Given the description of an element on the screen output the (x, y) to click on. 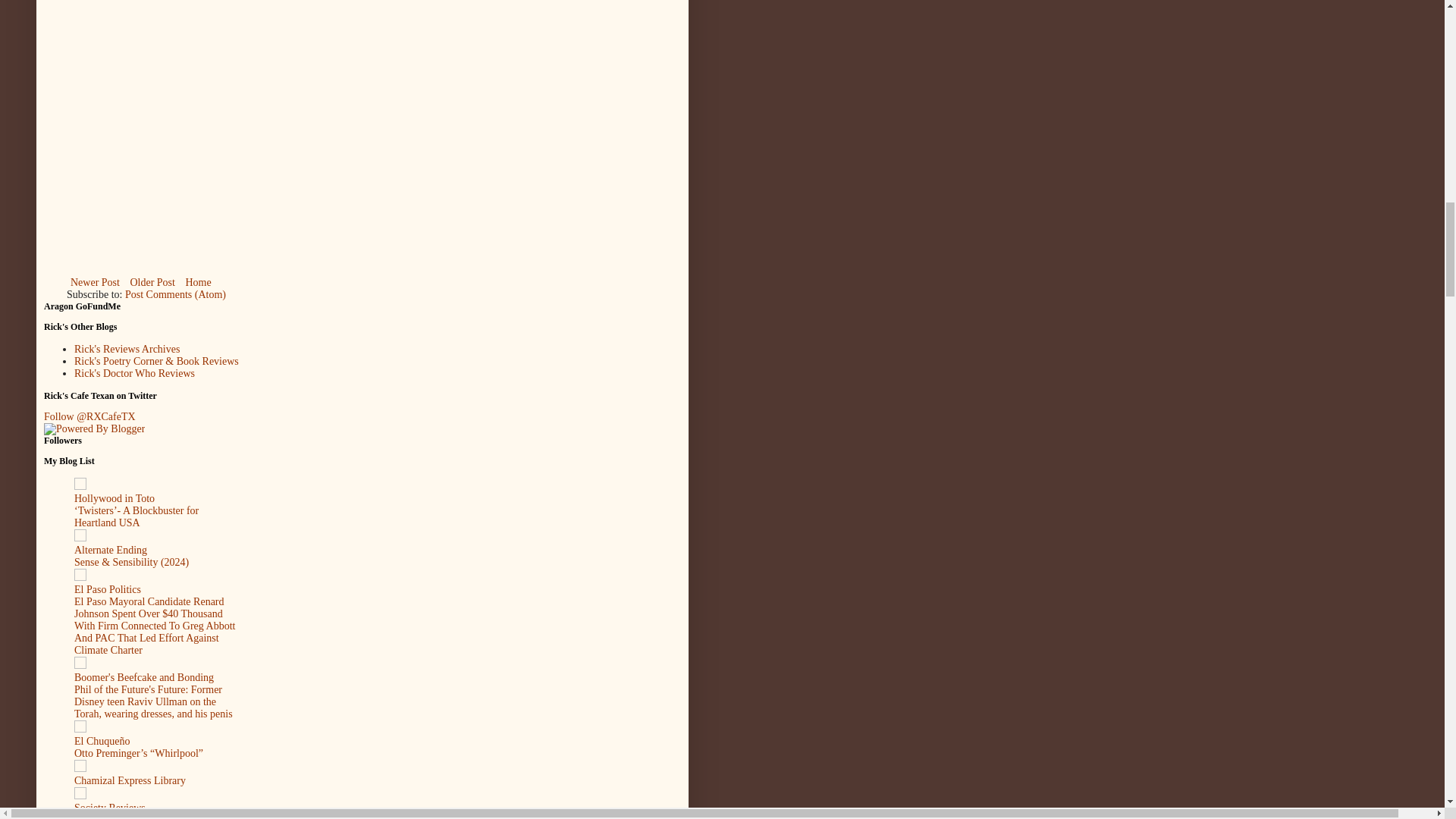
Older Post (152, 281)
Home (197, 281)
Chamizal Express Library (130, 780)
Boomer's Beefcake and Bonding (144, 677)
Rick's Reviews Archives (126, 348)
El Paso Politics (107, 589)
Older Post (152, 281)
Hollywood in Toto (114, 498)
Newer Post (94, 281)
Society Reviews (109, 808)
Rick's Doctor Who Reviews (134, 373)
Newer Post (94, 281)
Alternate Ending (110, 550)
